Given the description of an element on the screen output the (x, y) to click on. 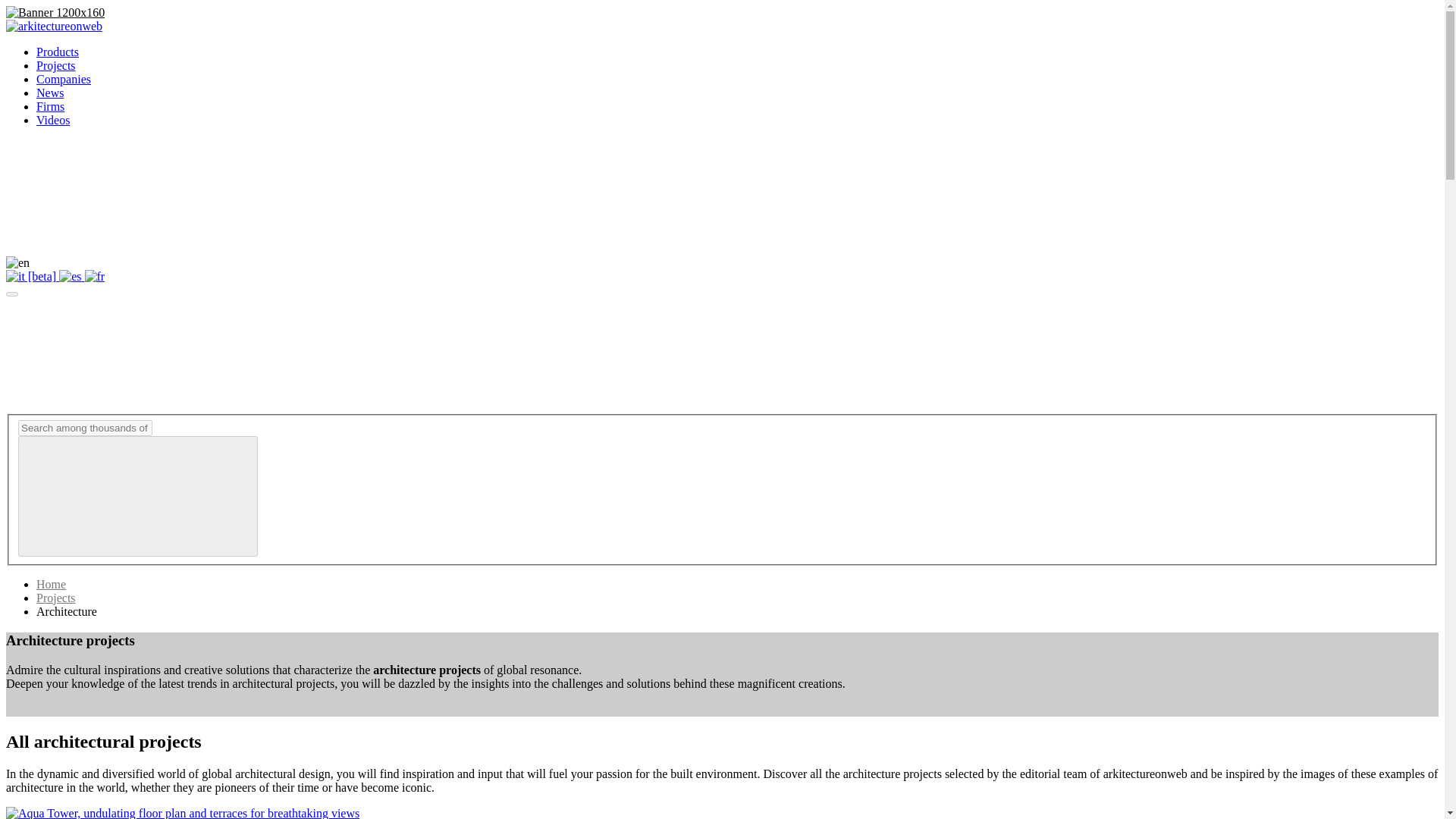
Go to arkitectureonweb (53, 25)
Home (50, 584)
Products (57, 51)
Projects (55, 65)
Projects (55, 597)
Videos (52, 119)
Search (84, 427)
Companies (63, 78)
Firms (50, 106)
News (50, 92)
